Given the description of an element on the screen output the (x, y) to click on. 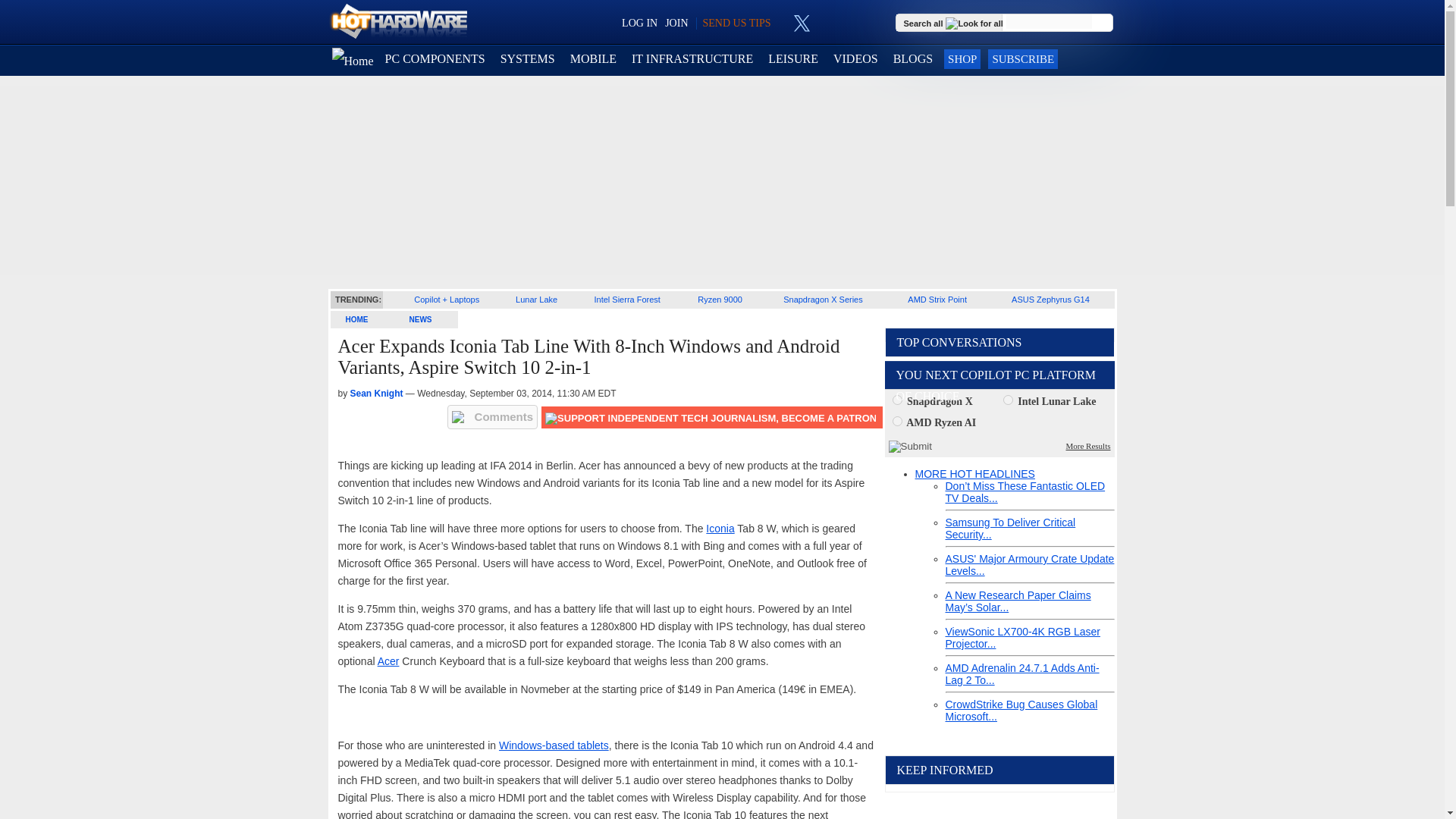
759 (896, 420)
SEND US TIPS (735, 22)
757 (896, 399)
Blogs (912, 58)
PC COMPONENTS (435, 58)
Comments (492, 416)
keyword (1049, 21)
JOIN (676, 22)
Go (1103, 22)
Go (1103, 22)
Search all (955, 22)
LOG IN (639, 22)
Go (1103, 22)
SIGN OUT (39, 18)
758 (1008, 399)
